Given the description of an element on the screen output the (x, y) to click on. 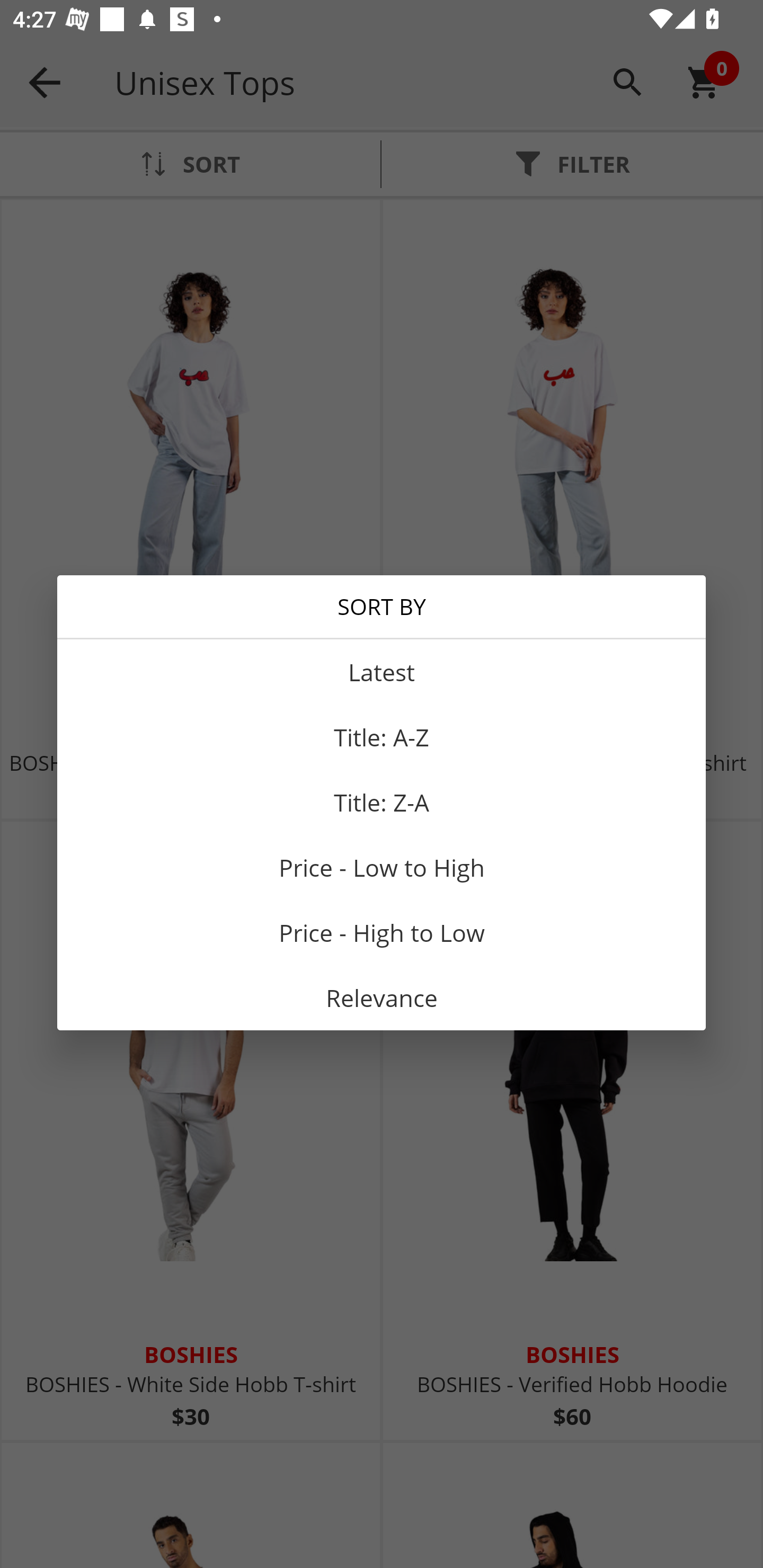
Latest (381, 671)
Title: A-Z (381, 736)
Title: Z-A (381, 801)
Price - Low to High (381, 867)
Price - High to Low (381, 932)
Relevance (381, 997)
